Given the description of an element on the screen output the (x, y) to click on. 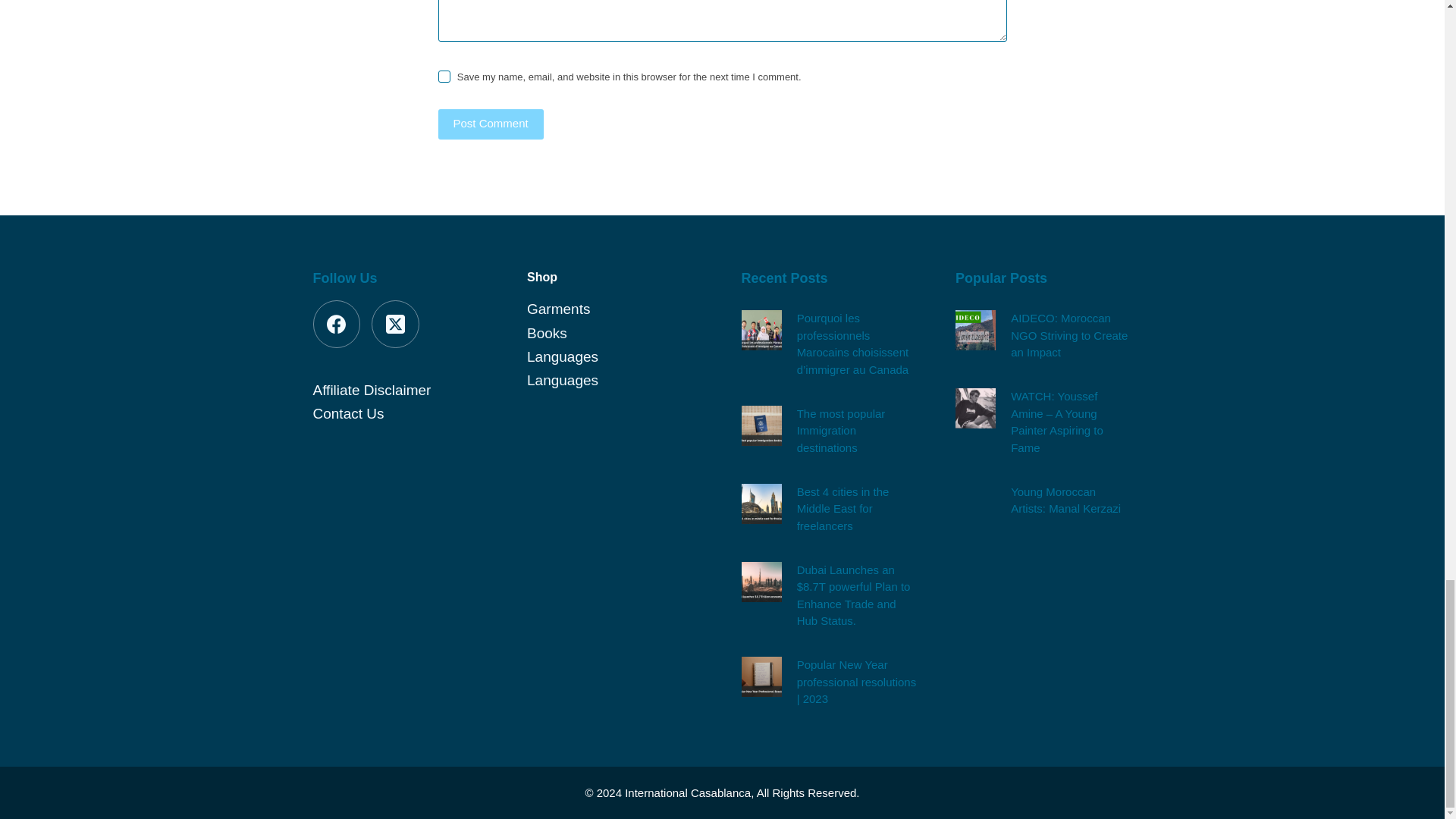
yes (443, 76)
